Given the description of an element on the screen output the (x, y) to click on. 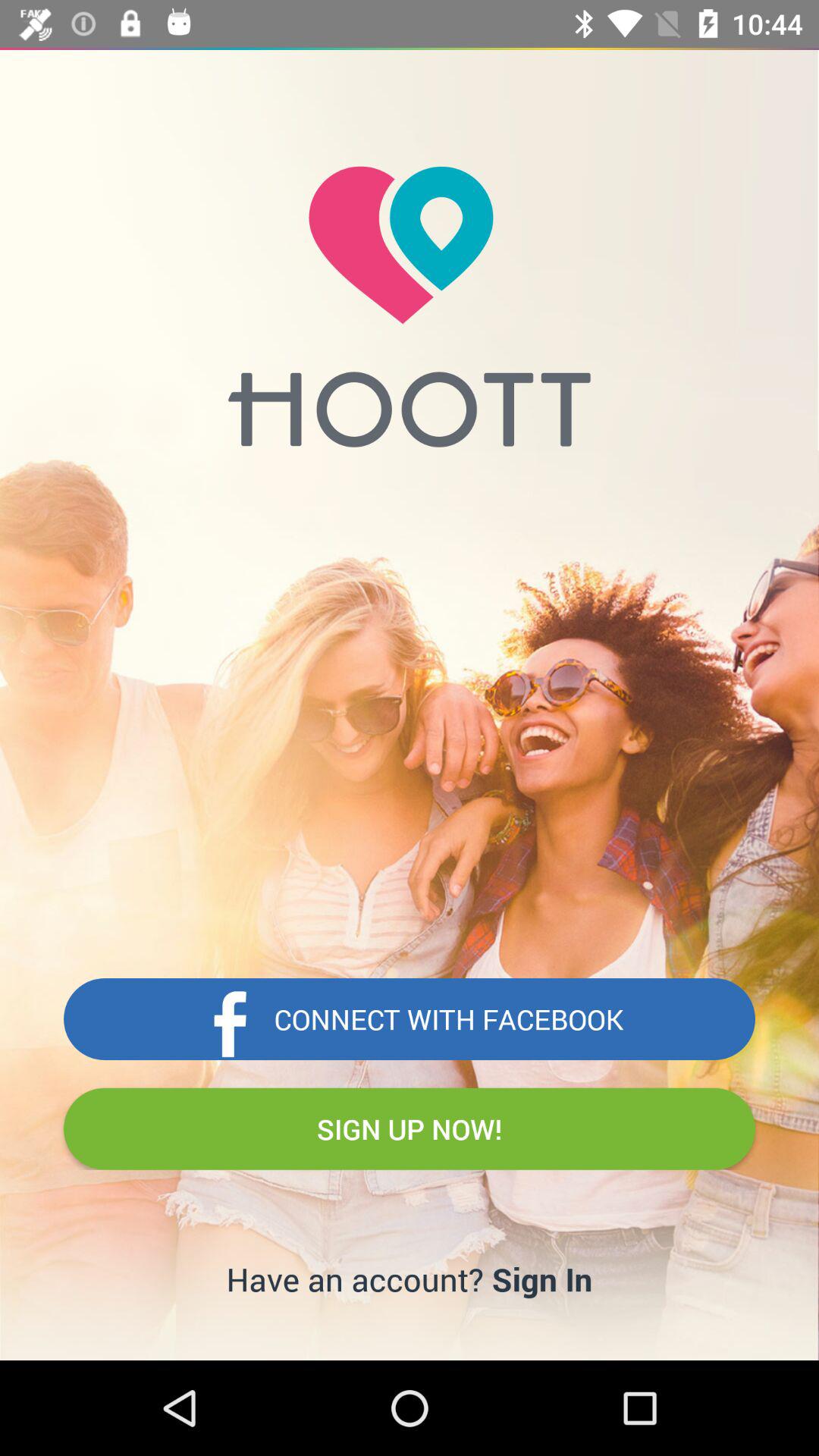
turn off item next to have an account? item (541, 1278)
